Given the description of an element on the screen output the (x, y) to click on. 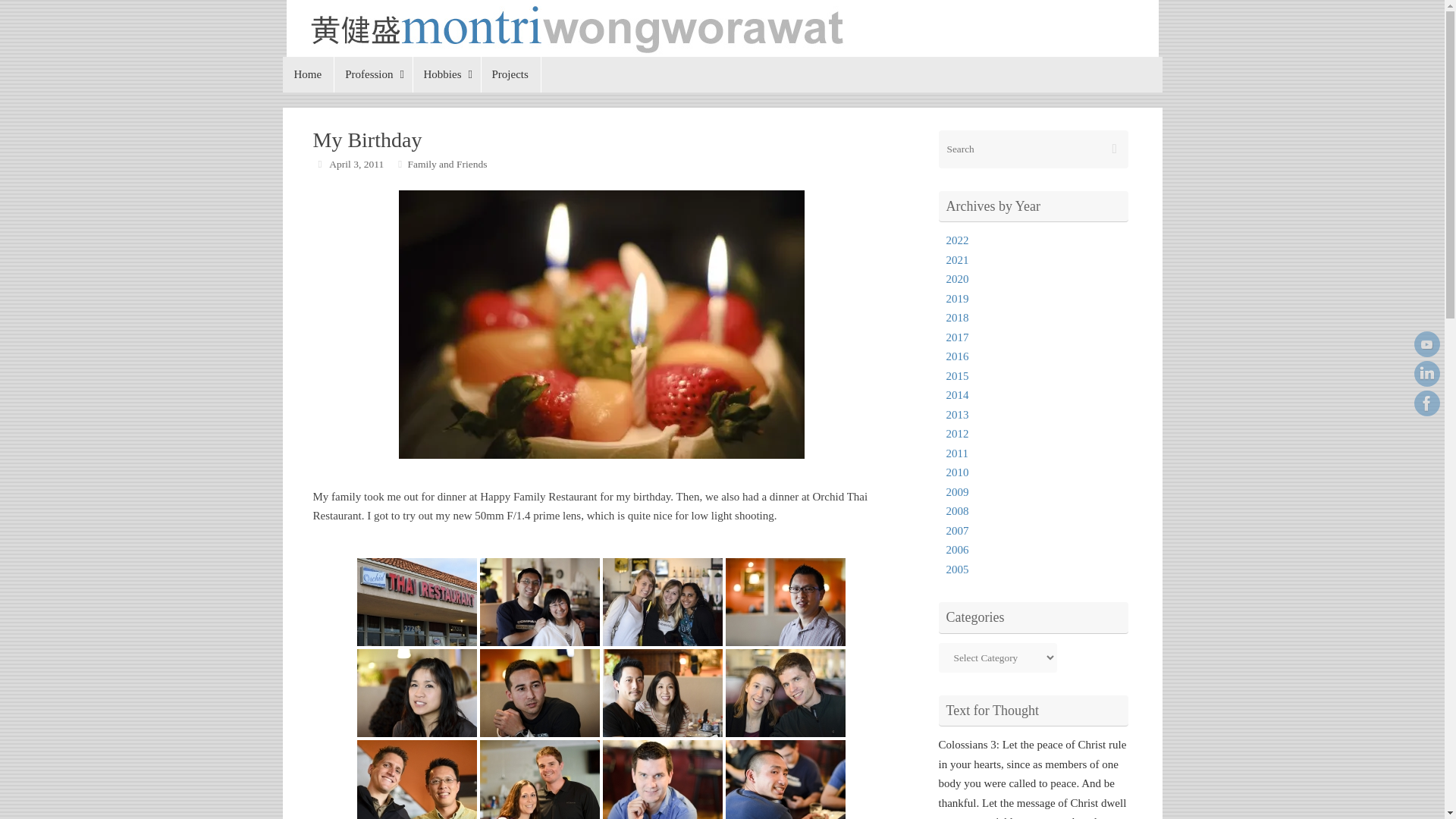
LinkedIn (1426, 373)
My Birthday (601, 324)
Facebook (1426, 403)
YouTube (1426, 344)
Date (319, 163)
Profession (372, 74)
April 3, 2011 (356, 163)
Hobbies (446, 74)
Categories (400, 163)
Family and Friends (446, 163)
